Given the description of an element on the screen output the (x, y) to click on. 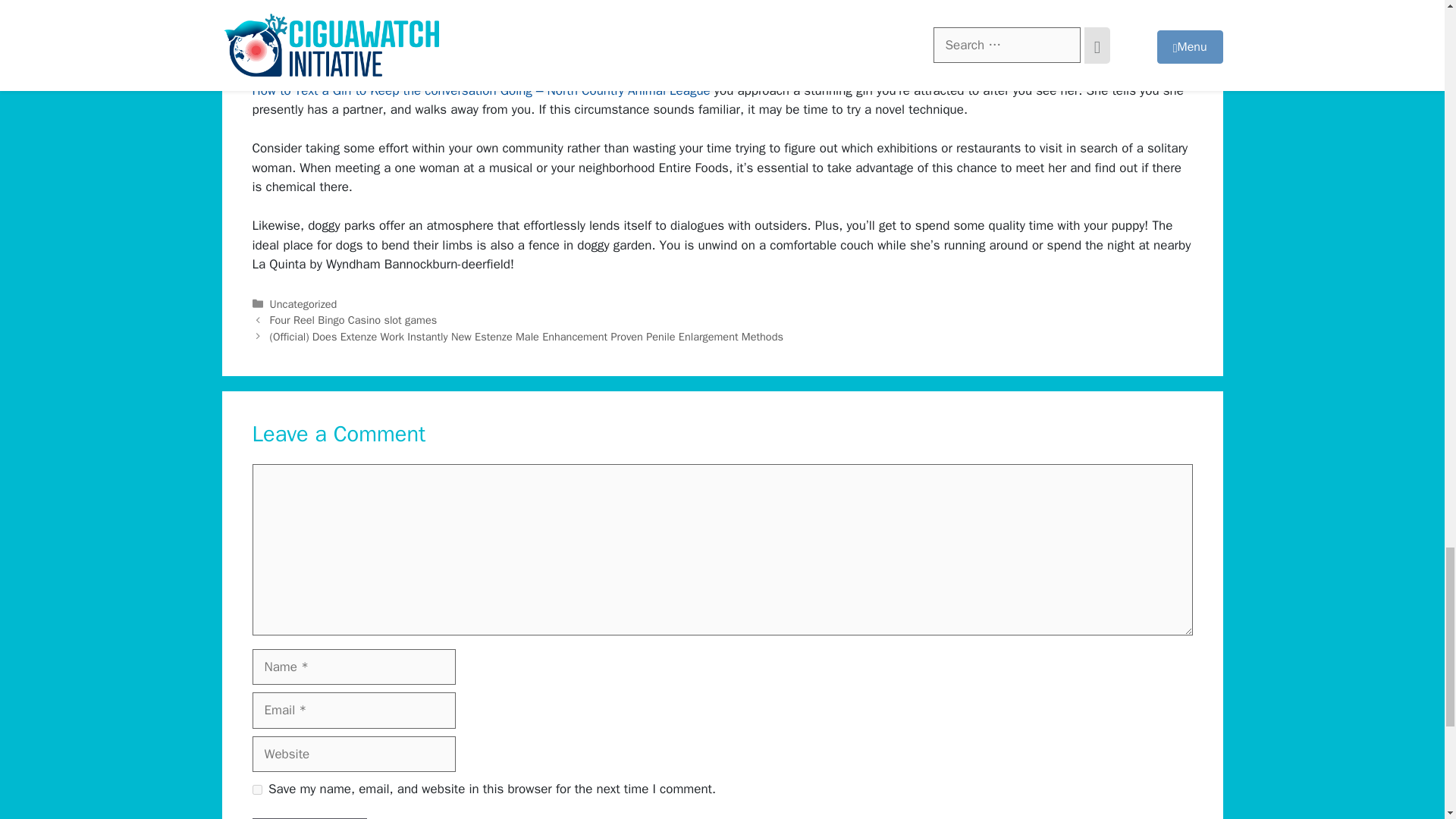
yes (256, 789)
Next (526, 336)
Four Reel Bingo Casino slot games (353, 319)
Previous (353, 319)
